Given the description of an element on the screen output the (x, y) to click on. 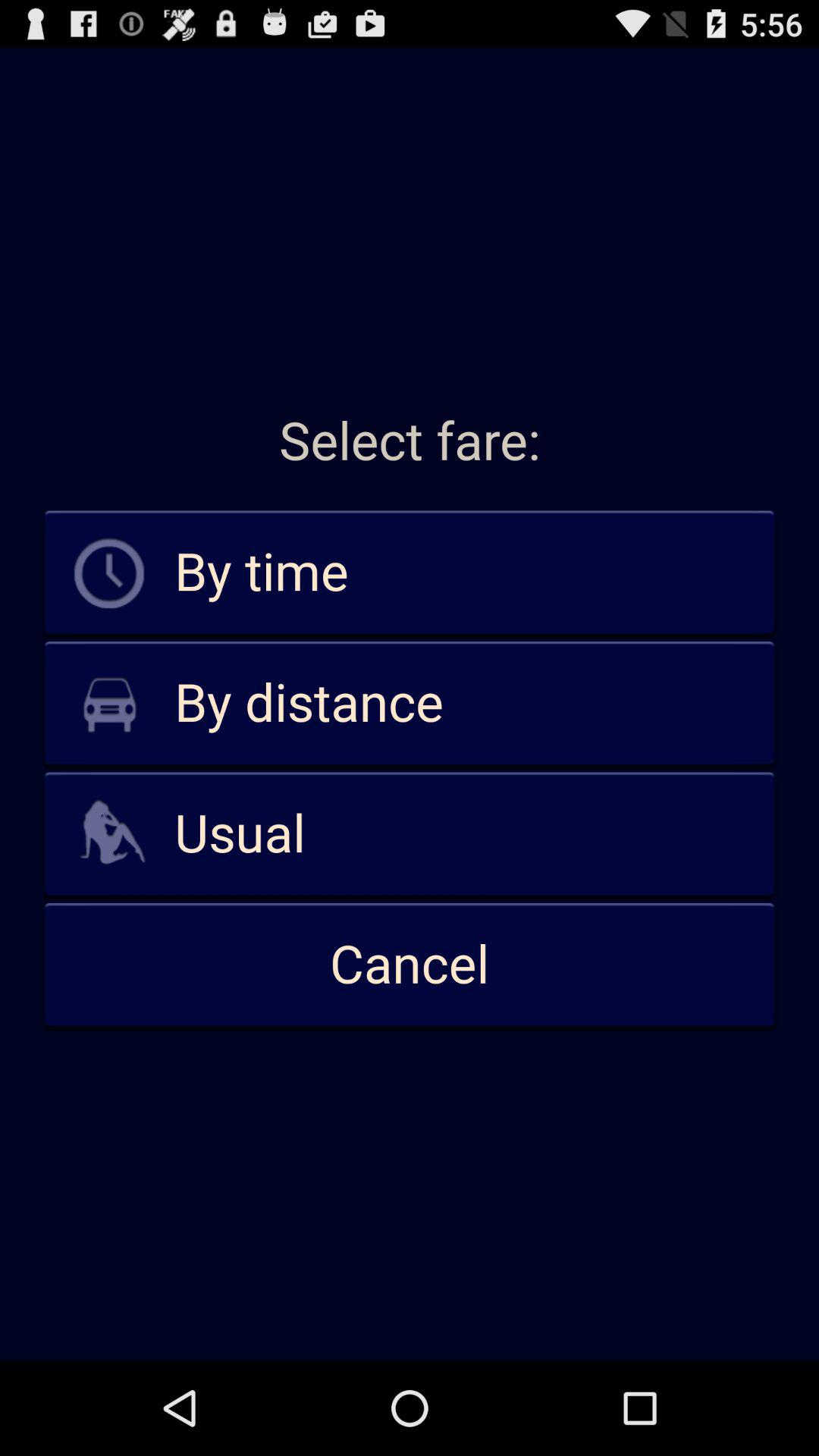
swipe until usual app (409, 834)
